Given the description of an element on the screen output the (x, y) to click on. 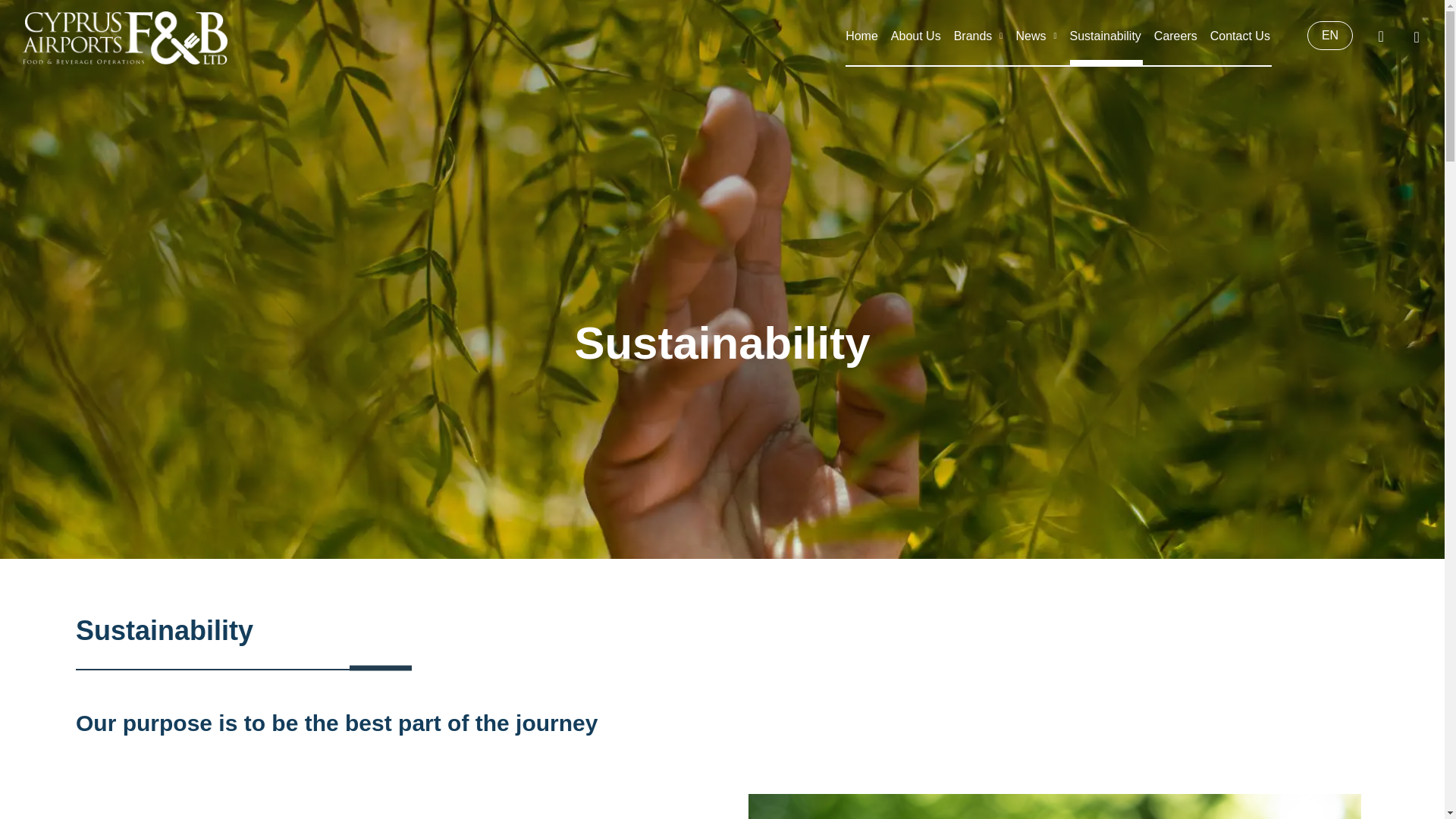
Contact Us (1240, 36)
About Us (916, 36)
Sustainability (1106, 36)
English (1330, 35)
EN (1330, 35)
